Given the description of an element on the screen output the (x, y) to click on. 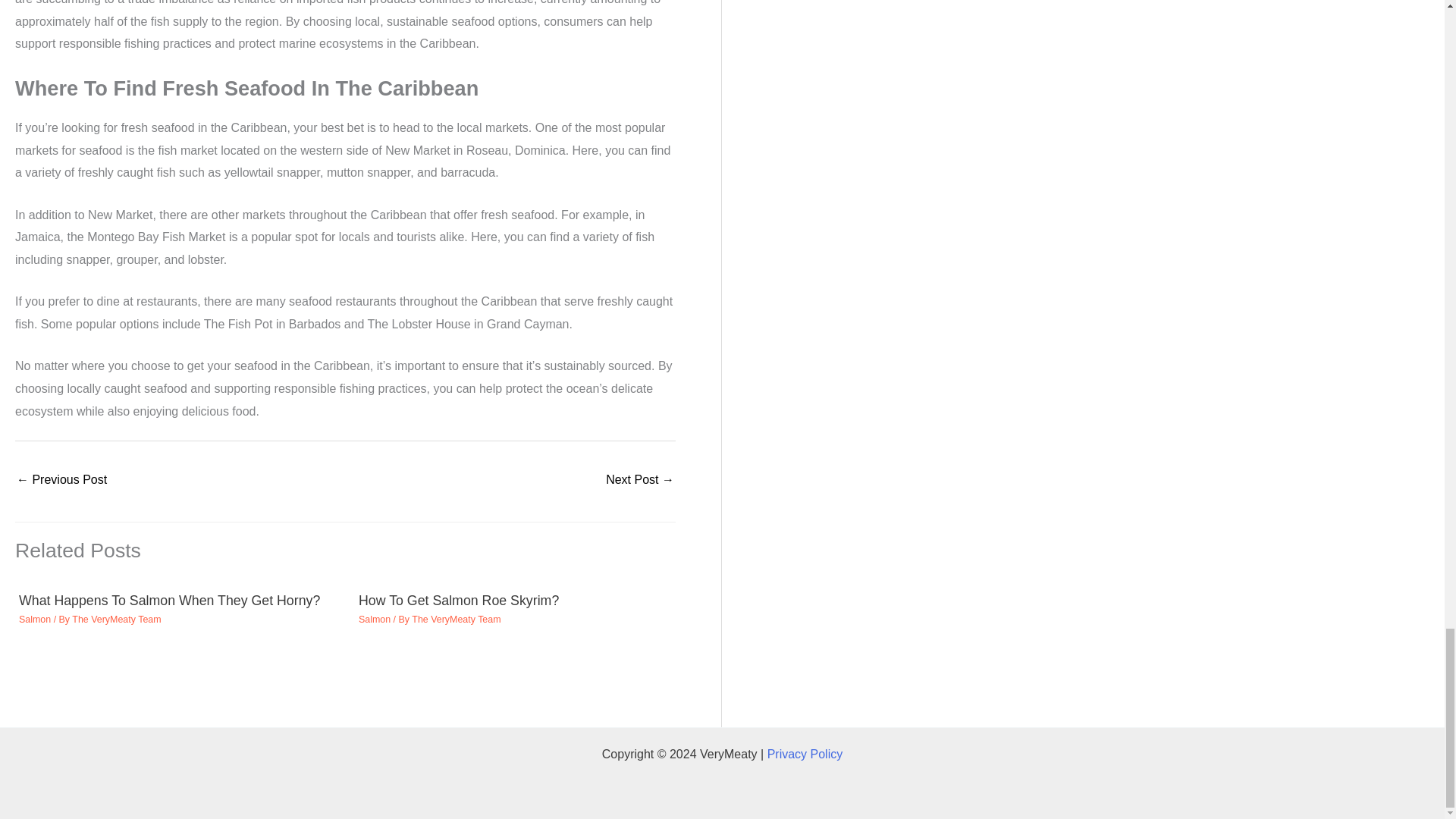
Is There Pork In McDonald's Chicken Nuggets? A Full Guide (61, 480)
The VeryMeaty Team (115, 619)
Salmon (374, 619)
What Happens To Salmon When They Get Horny? (169, 600)
How To Get Salmon Roe Skyrim? (458, 600)
The VeryMeaty Team (456, 619)
Salmon (34, 619)
View all posts by The VeryMeaty Team (115, 619)
Is Tuna Fish Acidic Or Alkaline? A Complete Guide (639, 480)
View all posts by The VeryMeaty Team (456, 619)
